Given the description of an element on the screen output the (x, y) to click on. 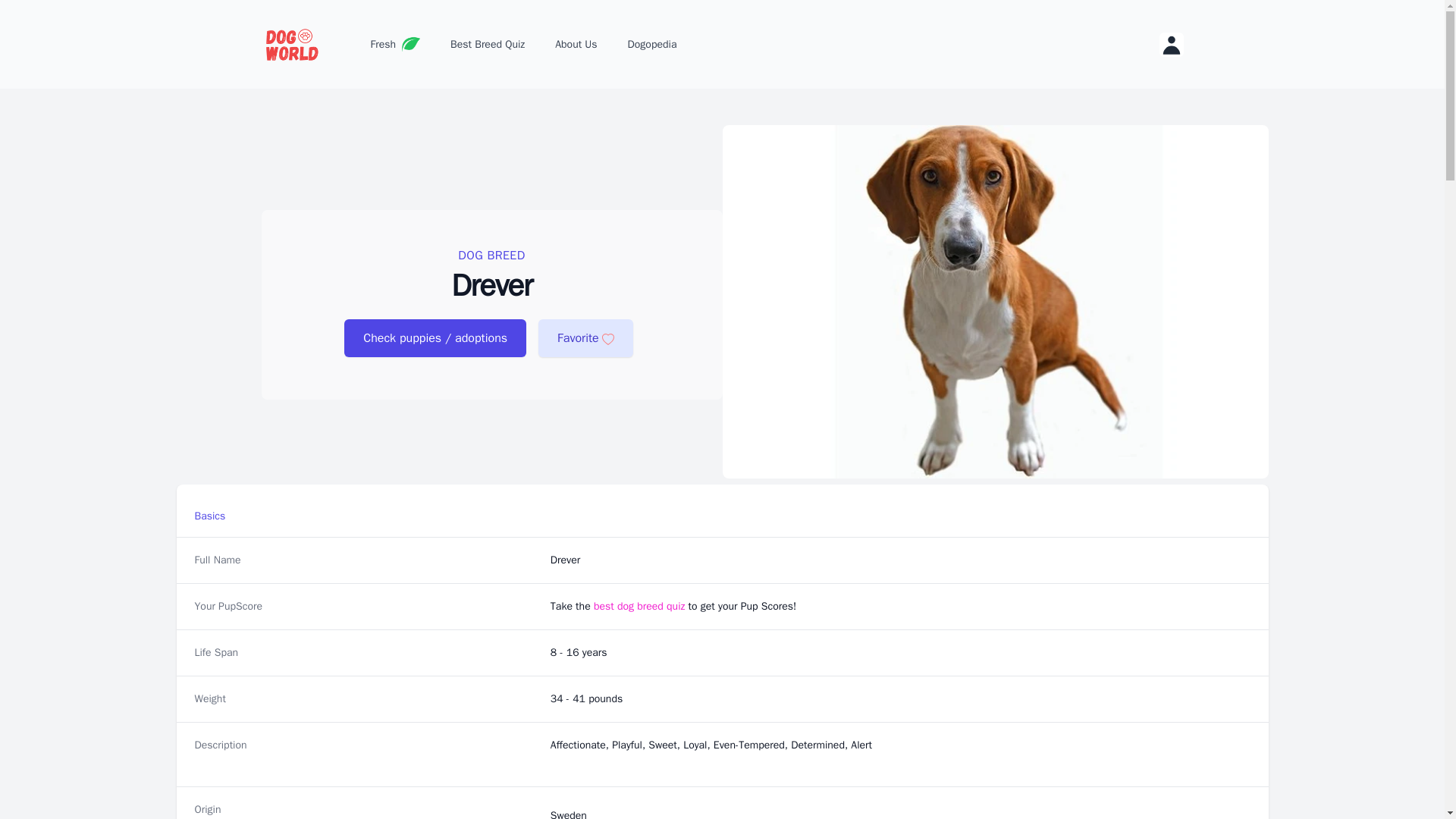
About Us (575, 44)
best dog breed quiz (639, 605)
Dogopedia (651, 44)
Favorite (585, 338)
Best Breed Quiz (487, 44)
Fresh (395, 44)
